Given the description of an element on the screen output the (x, y) to click on. 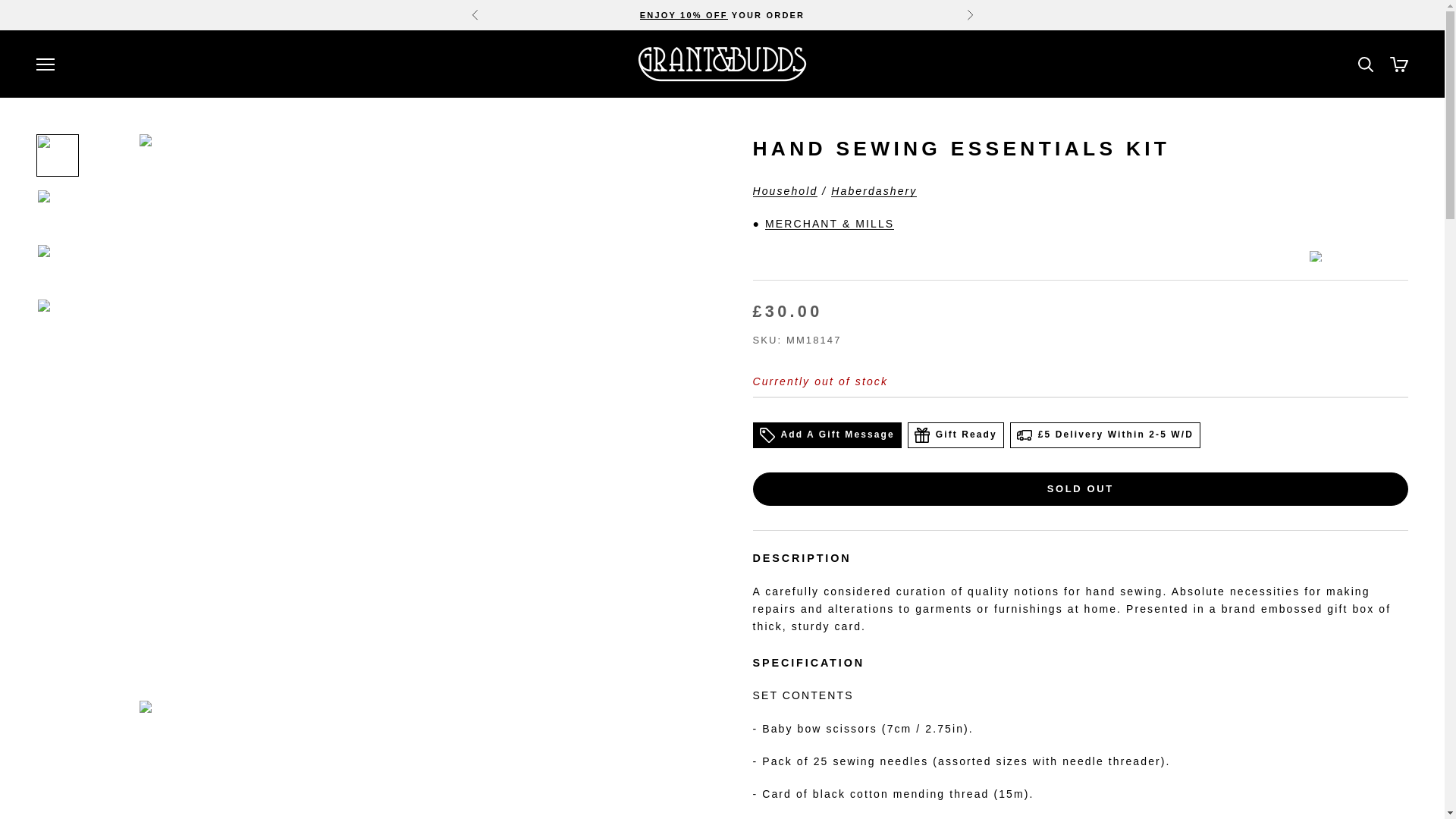
Gift Ready (955, 434)
SOLD OUT (1079, 489)
Haberdashery (874, 191)
Open search (1365, 64)
Newsletter (684, 14)
Add A Gift Message (826, 434)
Household (784, 191)
Open navigation menu (45, 64)
Open cart (1398, 64)
